Given the description of an element on the screen output the (x, y) to click on. 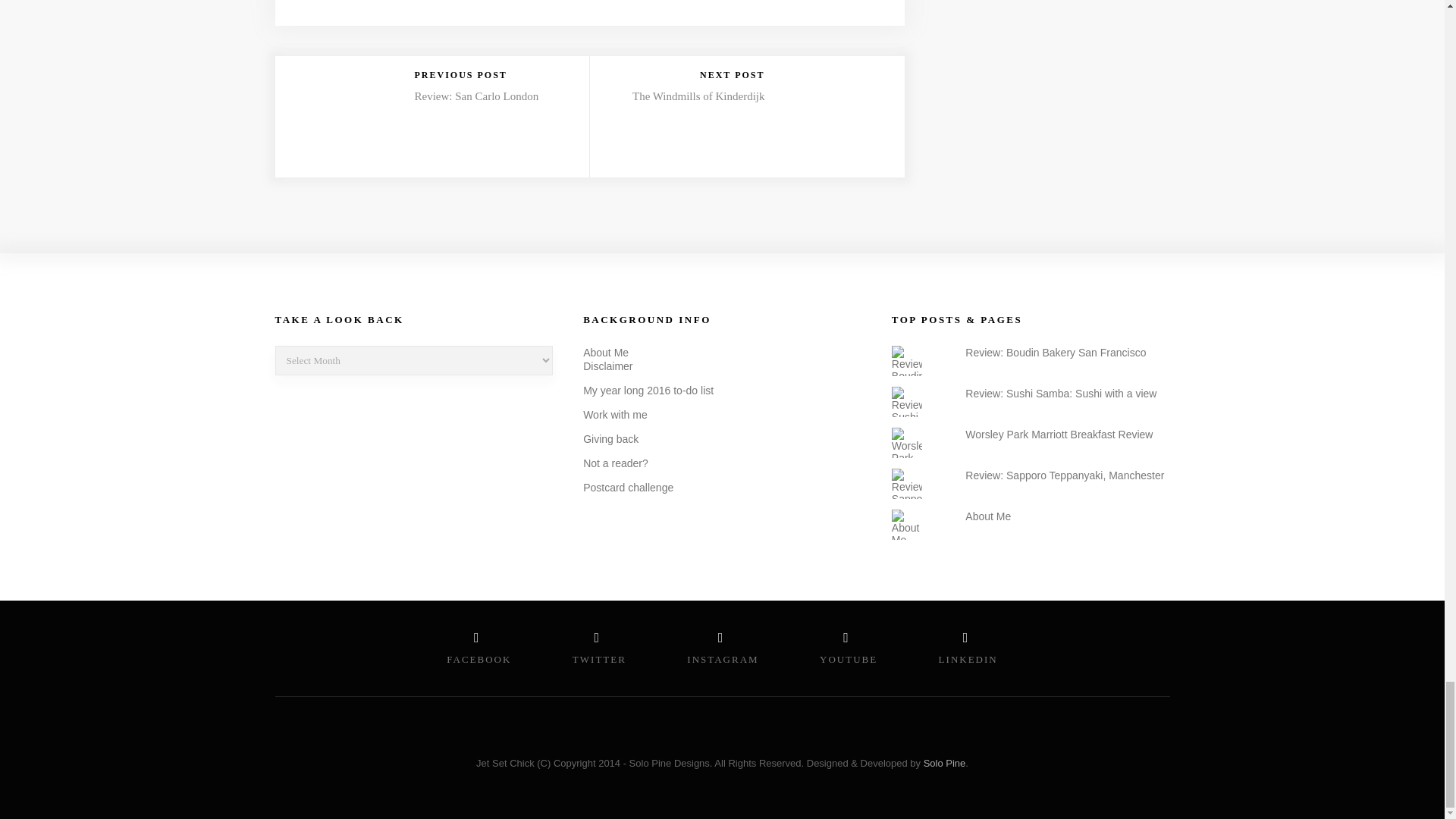
Trips100 (336, 517)
Trips100 - Travel Blogs (336, 453)
Review: Boudin Bakery San Francisco (1055, 352)
Trips100 (336, 516)
Trips100 - Travel Blogs (336, 454)
